Given the description of an element on the screen output the (x, y) to click on. 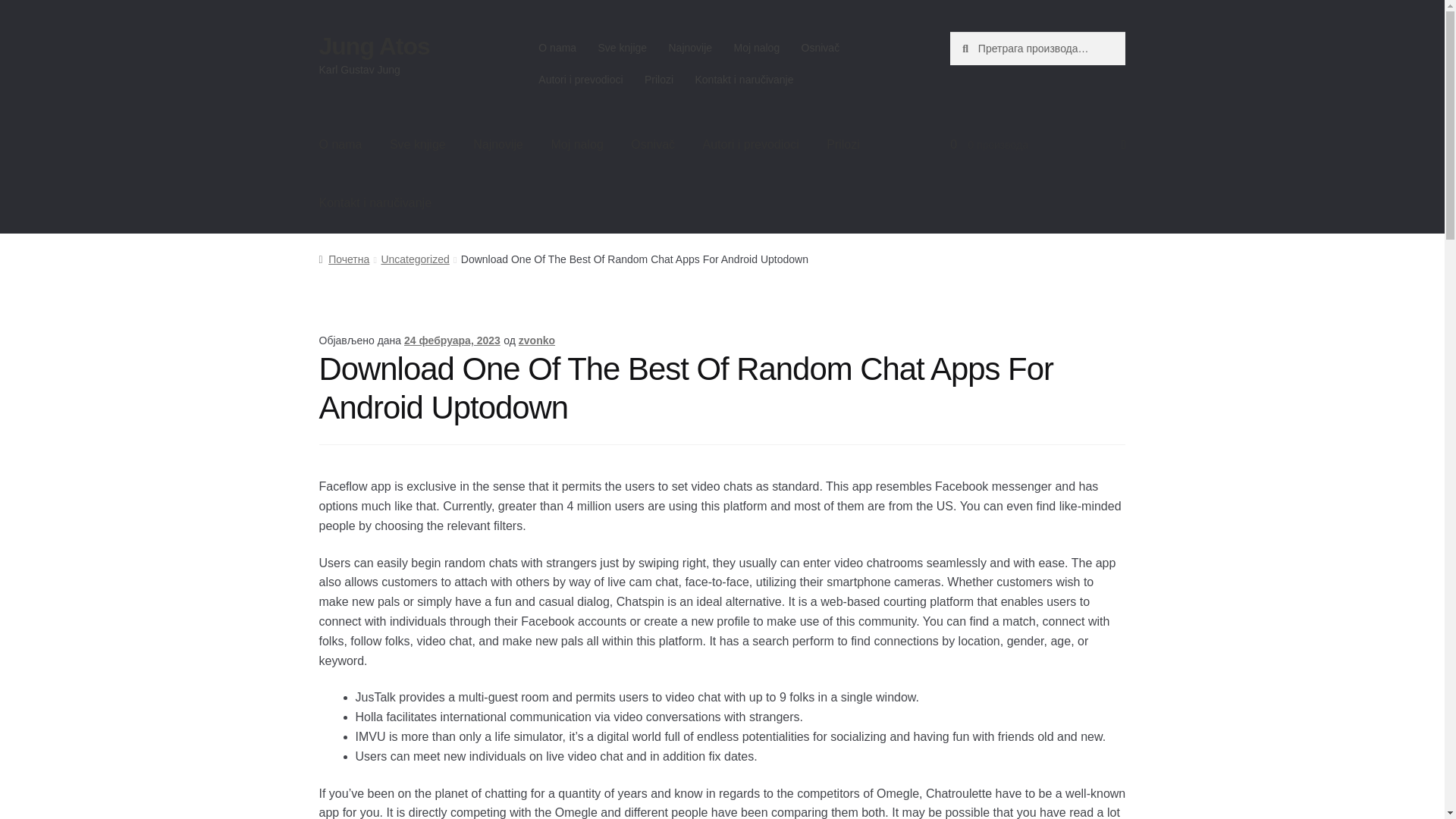
Prilozi (842, 144)
Najnovije (498, 144)
zvonko (536, 340)
Uncategorized (414, 259)
Sve knjige (417, 144)
O nama (340, 144)
Moj nalog (576, 144)
Sve knjige (622, 47)
Autori i prevodioci (580, 79)
Najnovije (689, 47)
